Given the description of an element on the screen output the (x, y) to click on. 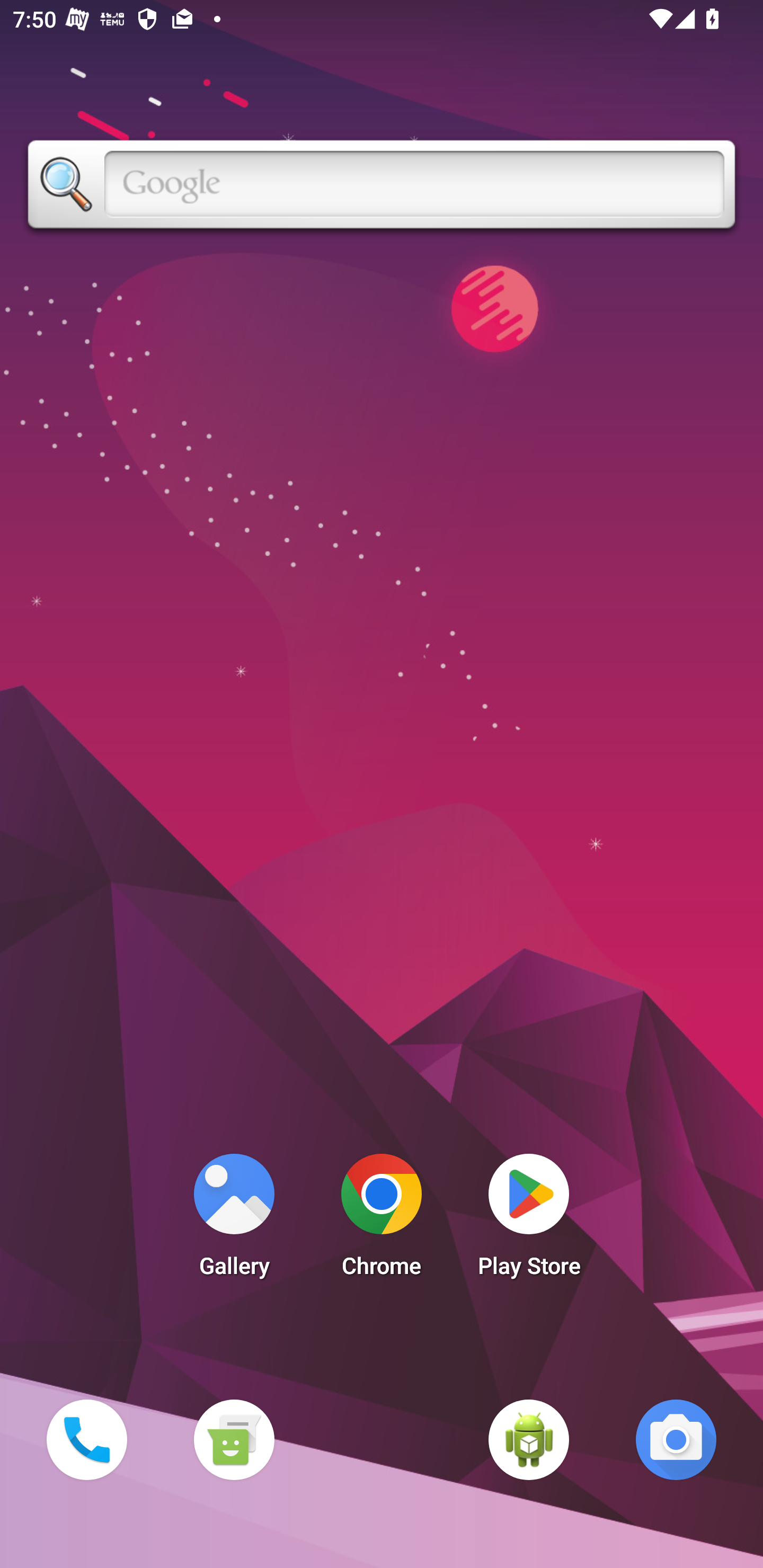
Gallery (233, 1220)
Chrome (381, 1220)
Play Store (528, 1220)
Phone (86, 1439)
Messaging (233, 1439)
WebView Browser Tester (528, 1439)
Camera (676, 1439)
